Given the description of an element on the screen output the (x, y) to click on. 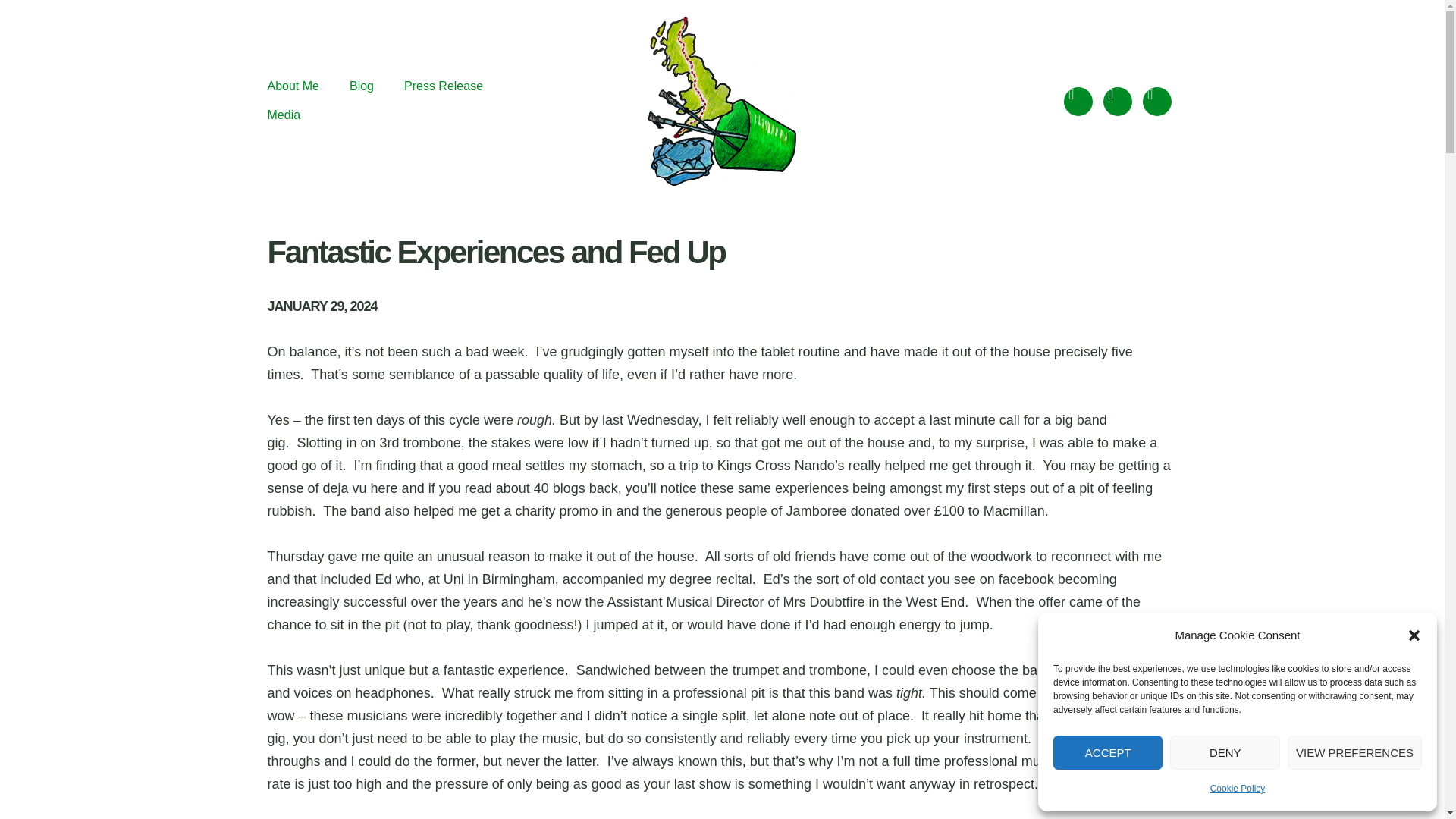
Cookie Policy (1237, 788)
VIEW PREFERENCES (1354, 752)
DENY (1224, 752)
About Me (292, 86)
Press Release (443, 86)
ACCEPT (1106, 752)
Media (282, 115)
